Given the description of an element on the screen output the (x, y) to click on. 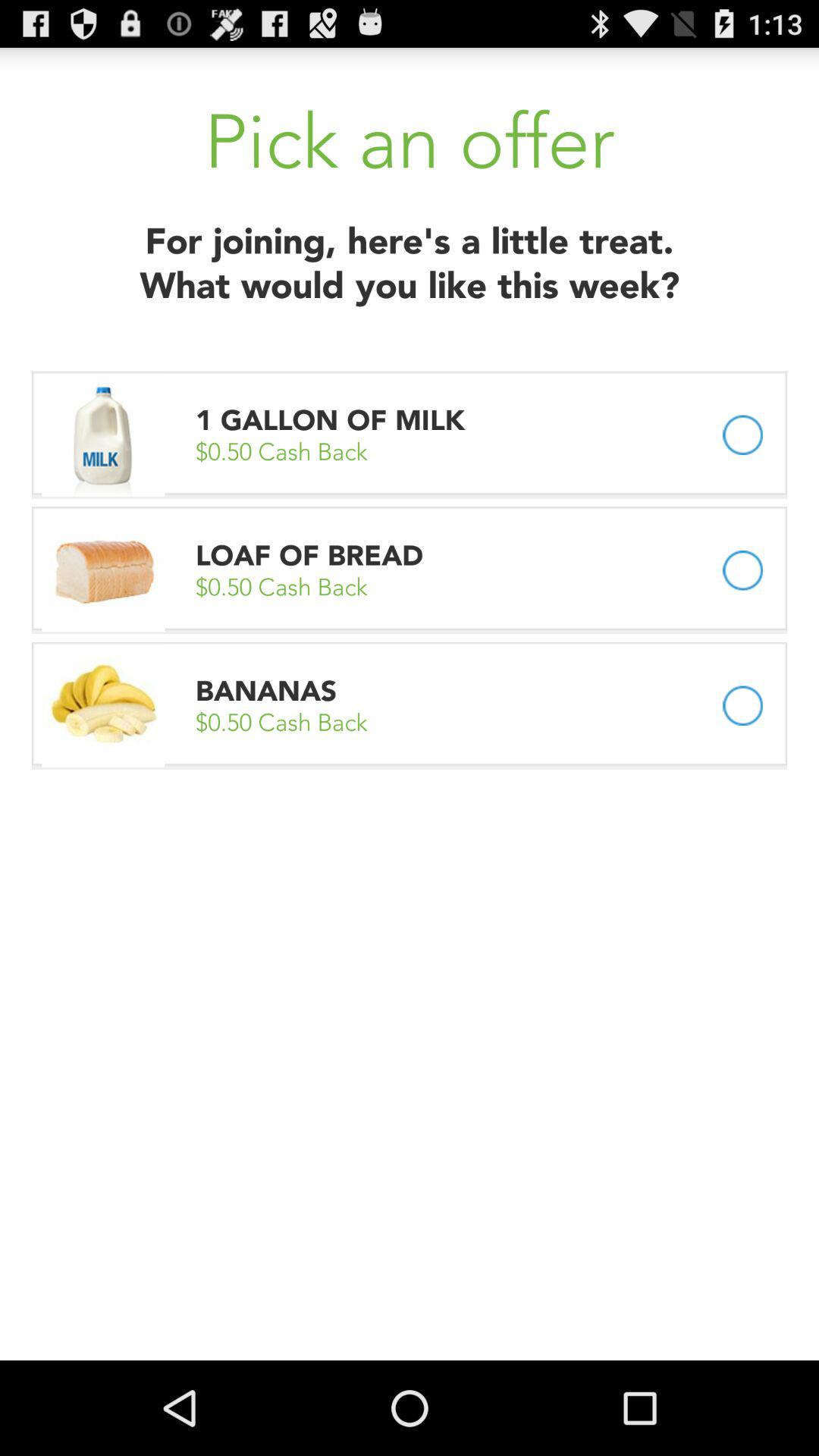
choose the item below 0 50 cash app (265, 690)
